Given the description of an element on the screen output the (x, y) to click on. 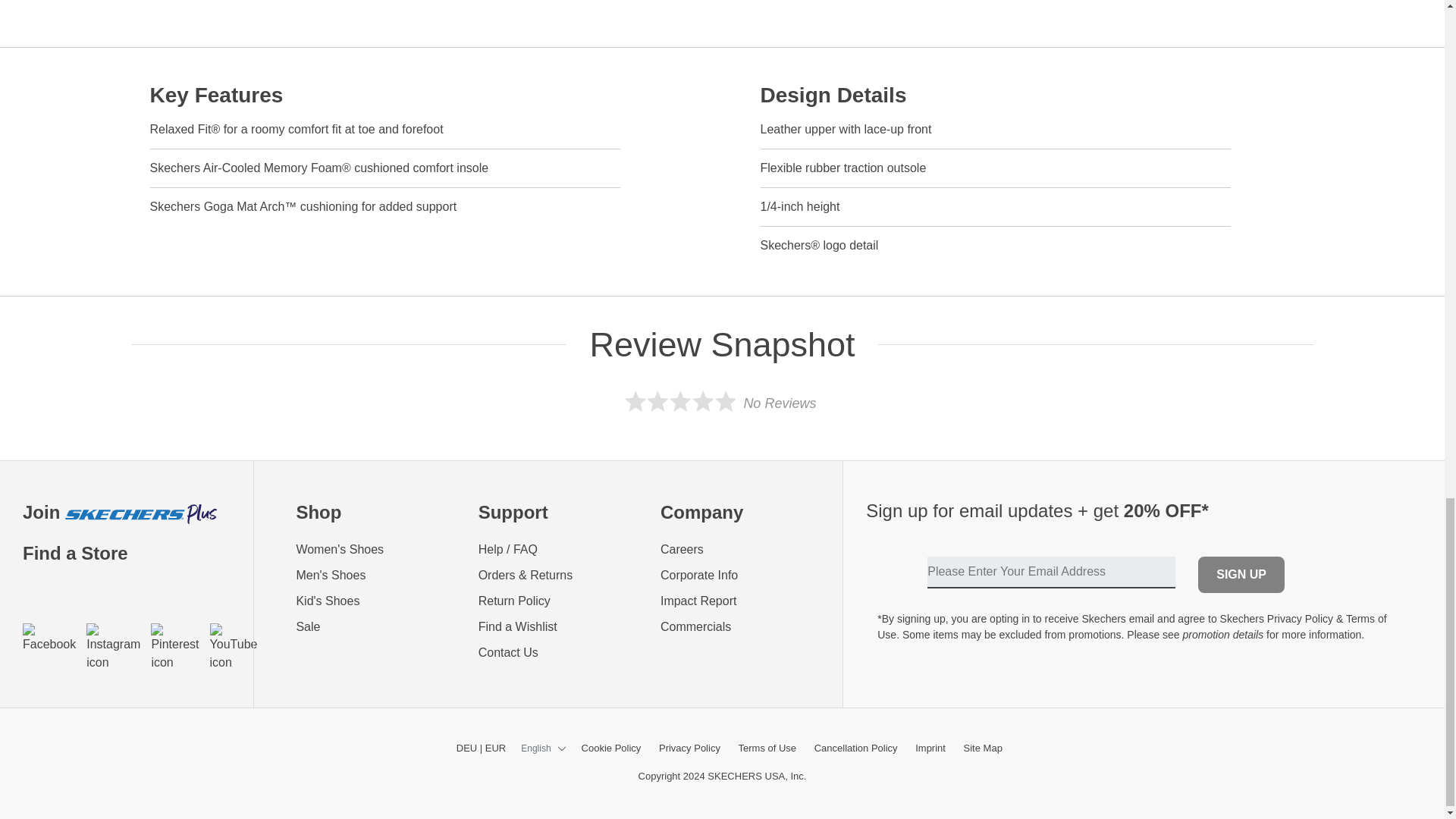
Follow SKECHERS on Pinterest (174, 647)
Follow Skechers on Facebook (49, 638)
Follow SKECHERS on YouTube (233, 647)
Follow SKECHERS on Instagram (112, 647)
Go to Wishlist (558, 627)
